Given the description of an element on the screen output the (x, y) to click on. 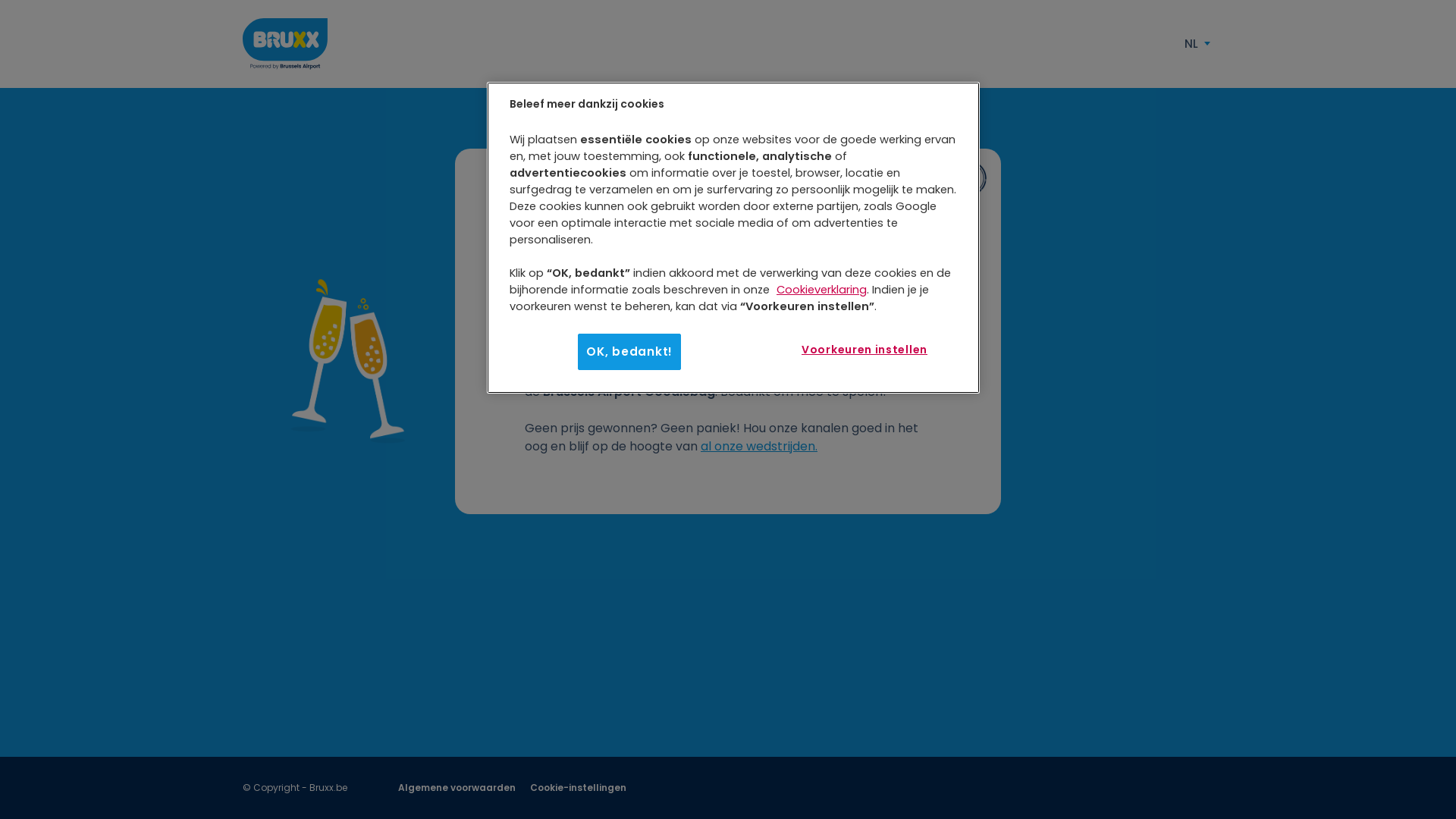
Cookieverklaring Element type: text (821, 289)
OK, bedankt! Element type: text (628, 351)
Algemene voorwaarden Element type: text (457, 787)
al onze wedstrijden. Element type: text (758, 446)
Voorkeuren instellen Element type: text (864, 350)
Cookie-instellingen Element type: text (578, 787)
